Given the description of an element on the screen output the (x, y) to click on. 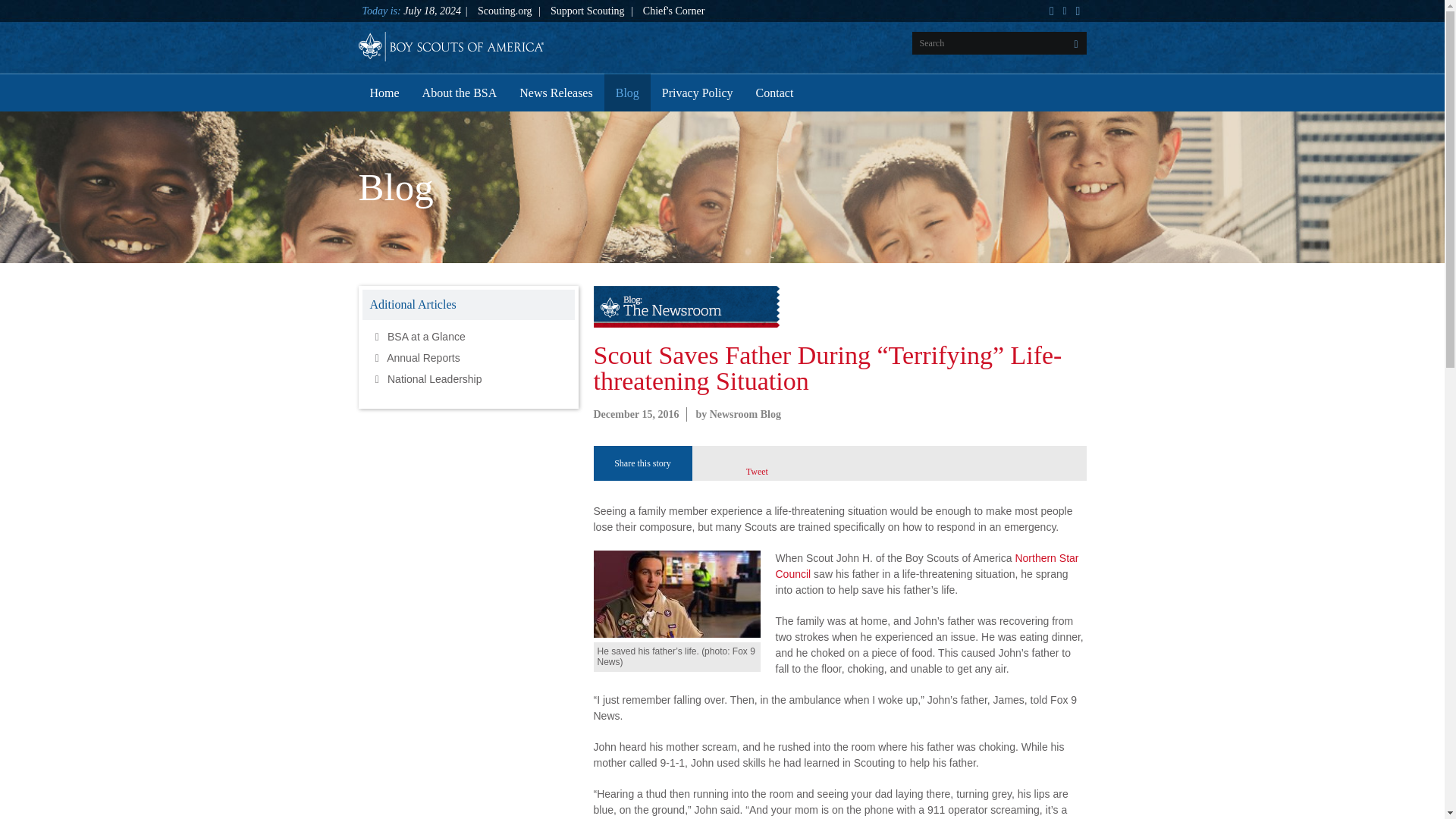
Privacy Policy (697, 92)
Search for: (998, 42)
Home (384, 92)
Annual Reports (468, 357)
Search (27, 12)
Syndicate this site using RSS (1051, 10)
Blog (627, 92)
Scouting Newsroom (450, 36)
December 15, 2016 (635, 414)
Support Scouting (587, 10)
National Leadership (468, 378)
Contact (774, 92)
About the BSA (459, 92)
BSA at a Glance (468, 336)
Chief's Corner (673, 10)
